Given the description of an element on the screen output the (x, y) to click on. 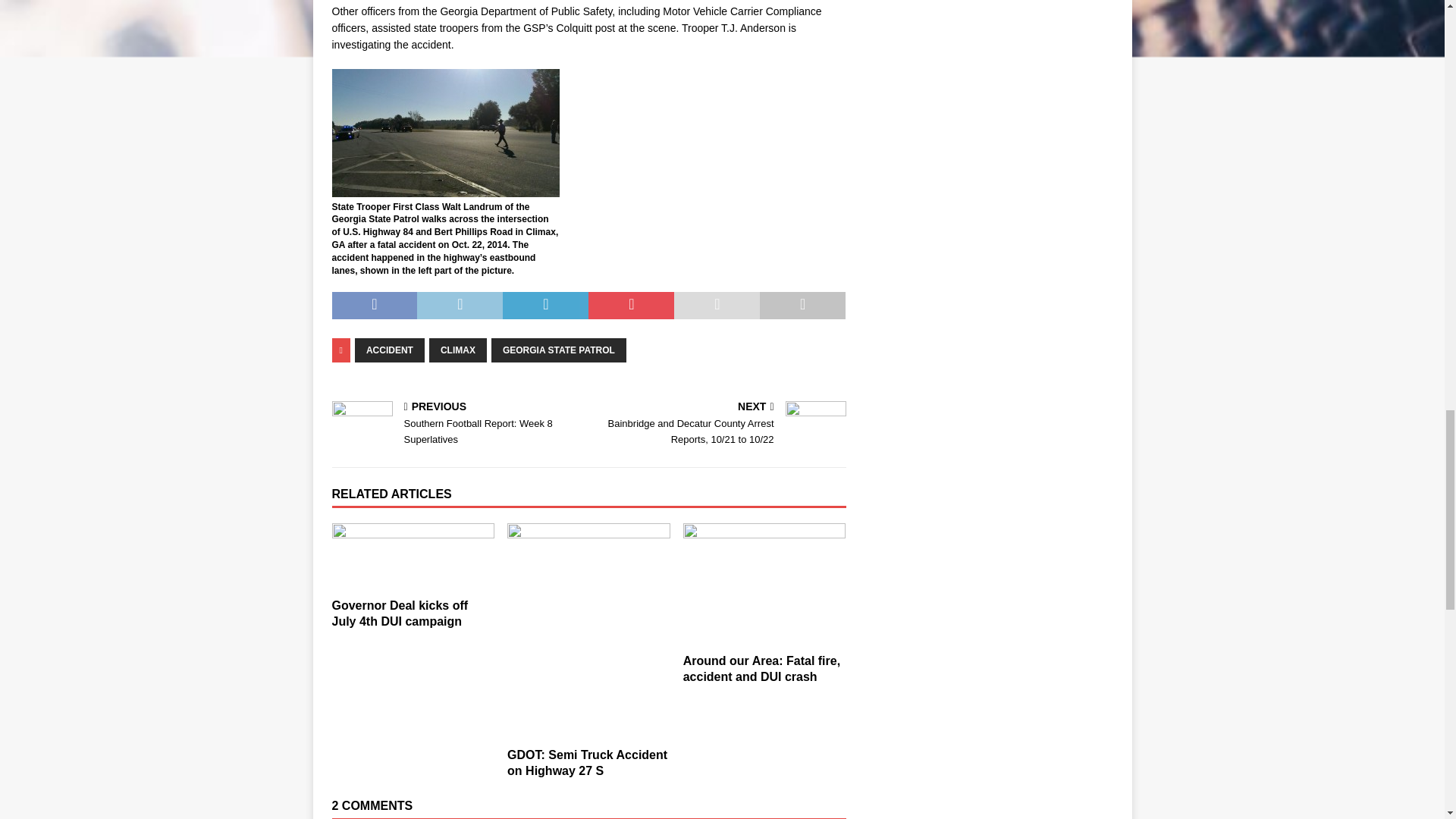
CLIMAX (457, 350)
ACCIDENT (390, 350)
Governor Deal kicks off July 4th DUI campaign (413, 556)
